Given the description of an element on the screen output the (x, y) to click on. 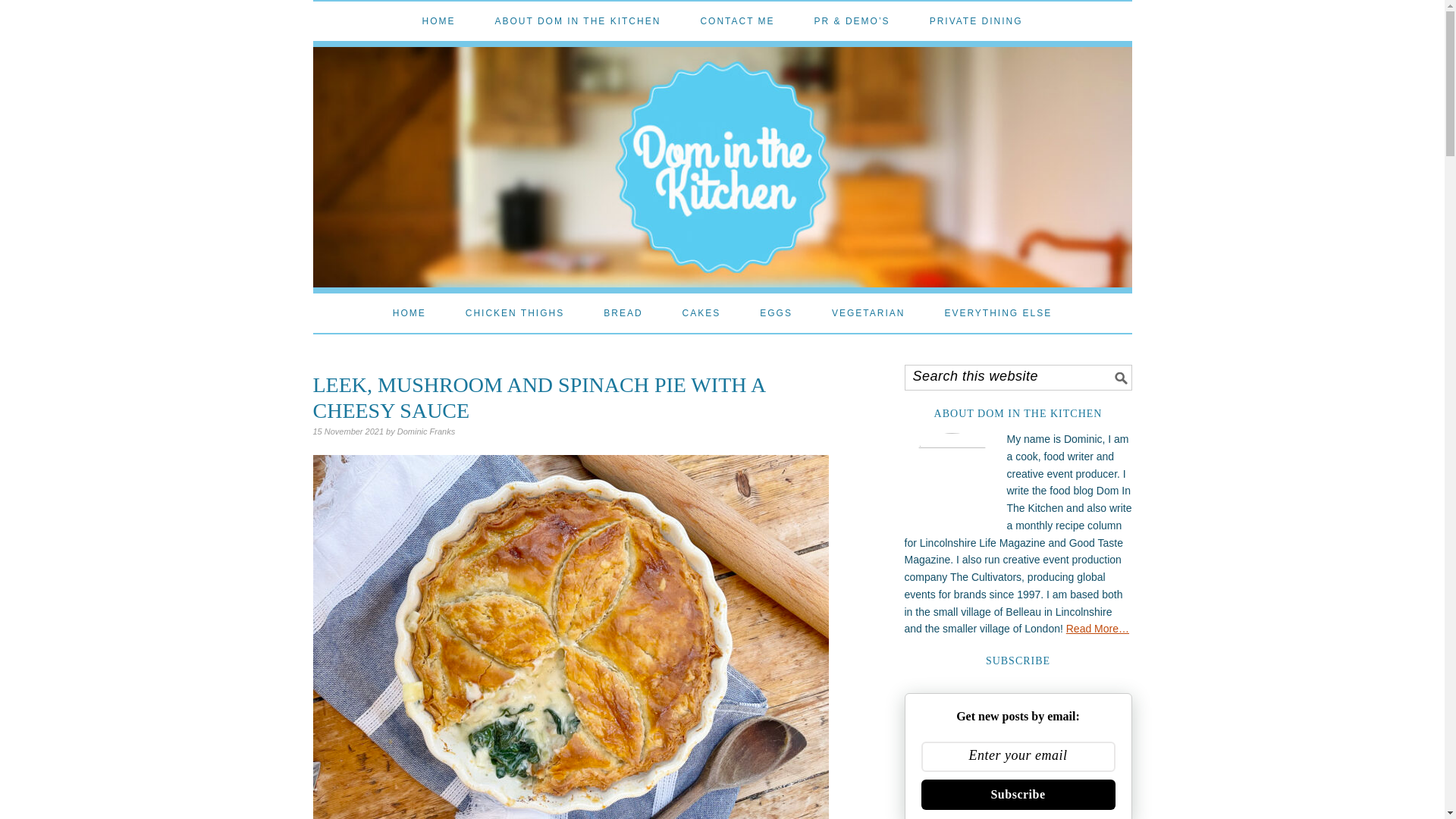
VEGETARIAN (867, 312)
CONTACT ME (737, 20)
CHICKEN THIGHS (514, 312)
BREAD (623, 312)
EVERYTHING ELSE (997, 312)
ABOUT DOM IN THE KITCHEN (577, 20)
CAKES (701, 312)
Dominic Franks (425, 430)
EGGS (775, 312)
HOME (438, 20)
HOME (409, 312)
PRIVATE DINING (976, 20)
